Given the description of an element on the screen output the (x, y) to click on. 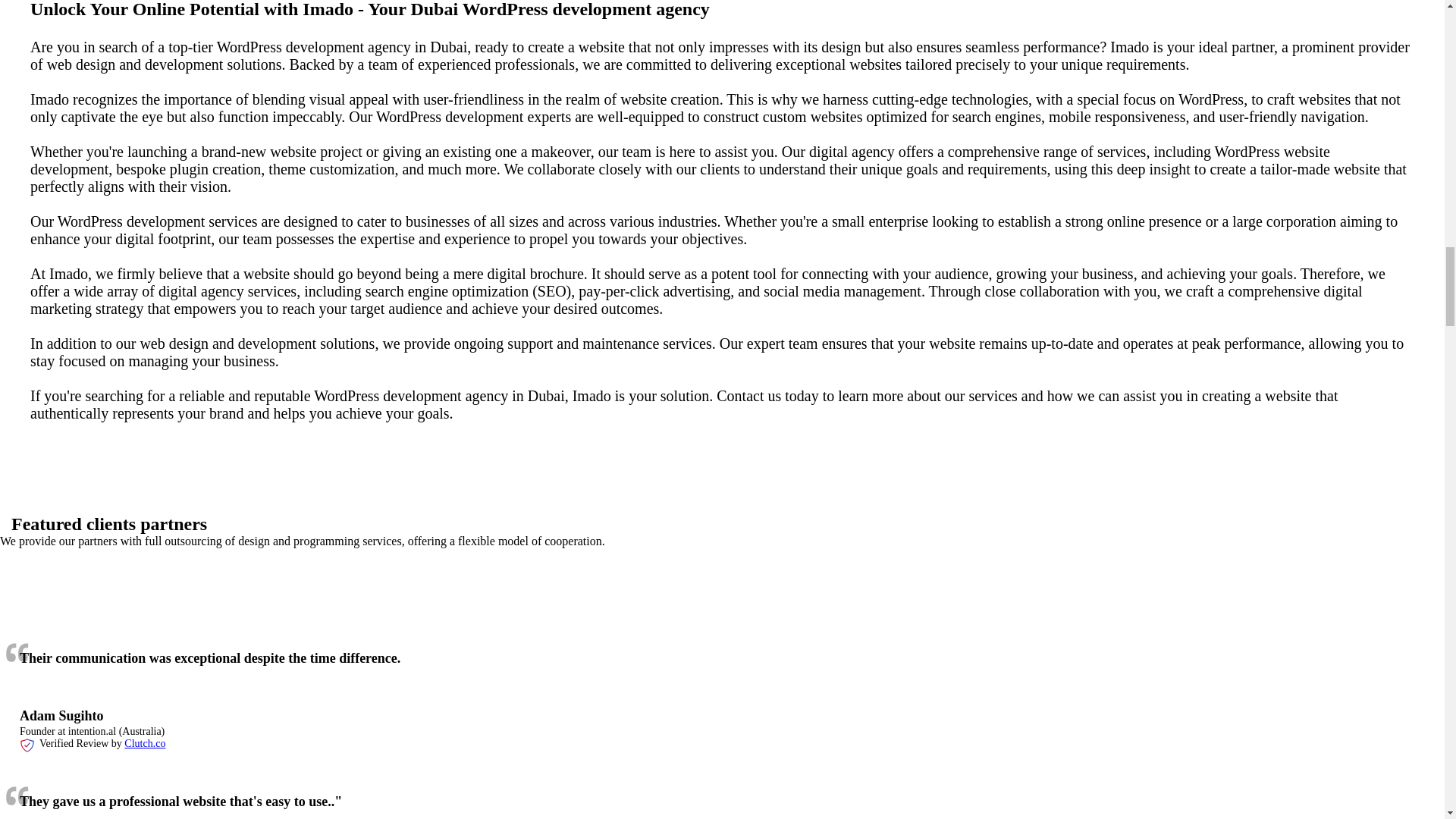
WordPress development in Dubai (200, 597)
WordPress development in Dubai (763, 597)
WordPress development in Dubai (603, 597)
WordPress development in Dubai (1369, 597)
WordPress development in Dubai (41, 597)
WordPress development in Dubai (465, 597)
WordPress development in Dubai (350, 597)
WordPress development in Dubai (949, 597)
WordPress development in Dubai (1162, 597)
